Given the description of an element on the screen output the (x, y) to click on. 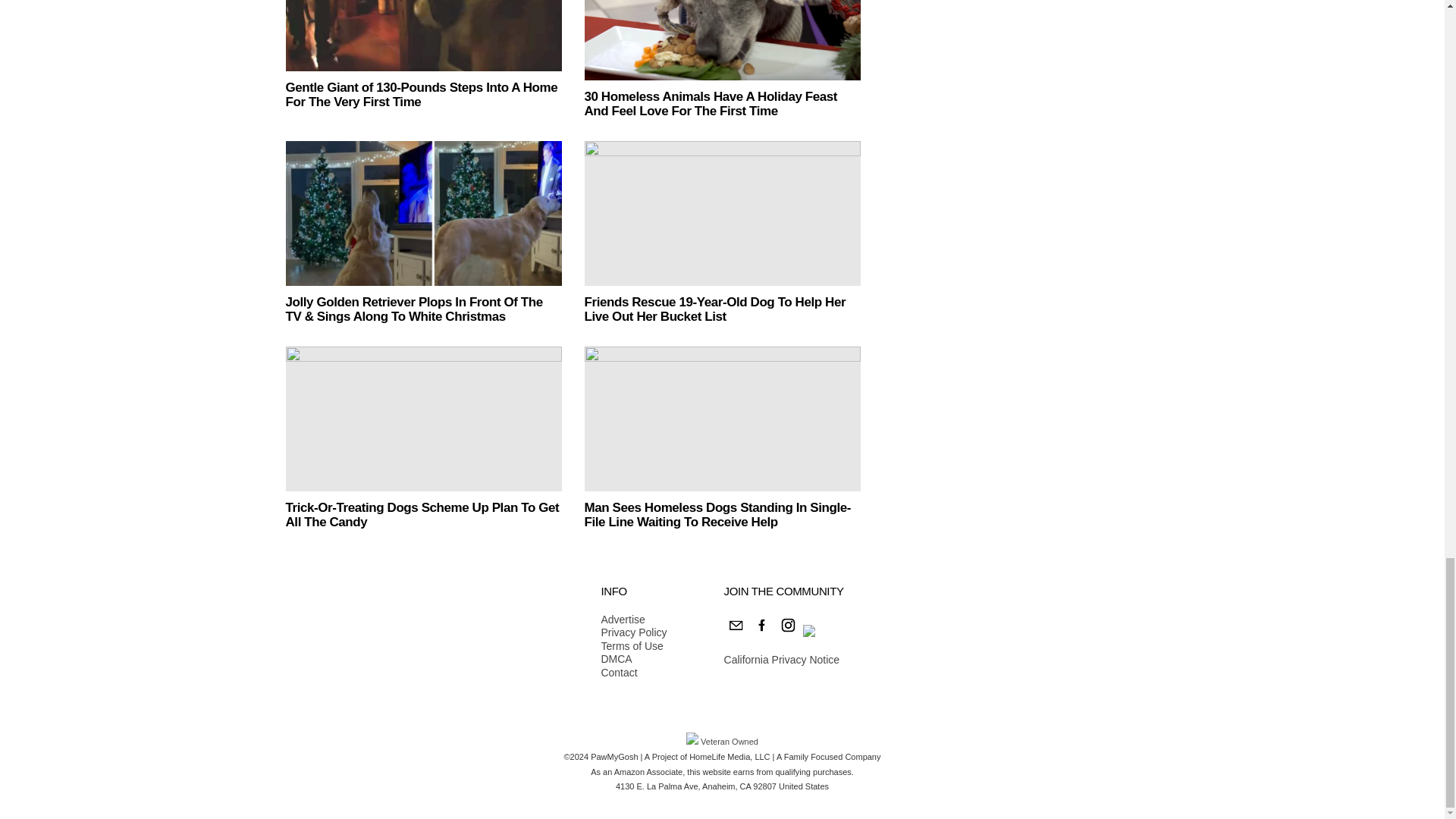
Trick-Or-Treating Dogs Scheme Up Plan To Get All The Candy (422, 514)
Privacy Policy (632, 632)
Trick-Or-Treating Dogs Scheme Up Plan To Get All The Candy (422, 418)
Contact (632, 673)
DMCA (632, 659)
